Given the description of an element on the screen output the (x, y) to click on. 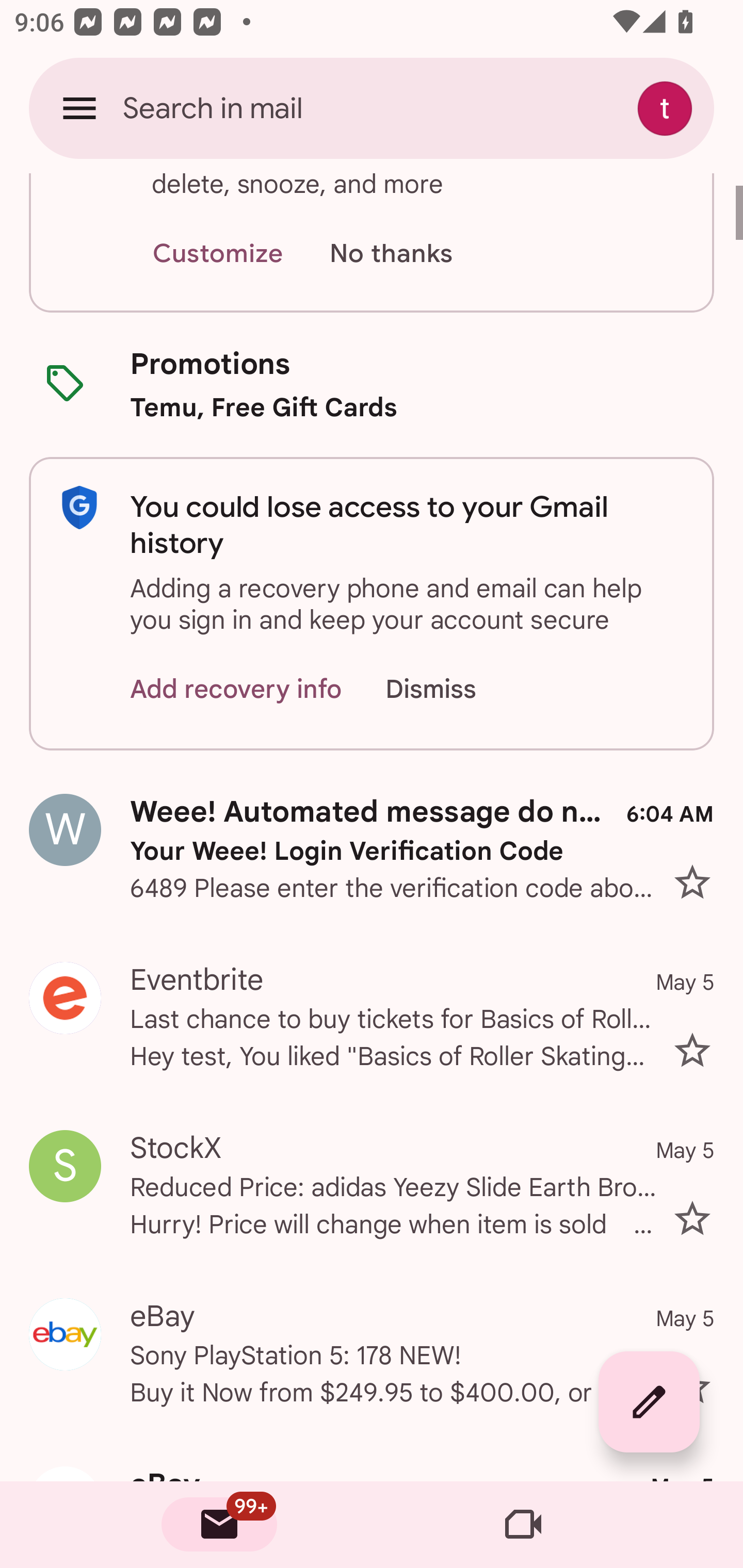
Open navigation drawer (79, 108)
Customize (217, 253)
No thanks (390, 253)
Promotions Temu, Free Gift Cards (371, 384)
Add recovery info (235, 689)
Dismiss (449, 689)
Compose (648, 1401)
Meet (523, 1524)
